Given the description of an element on the screen output the (x, y) to click on. 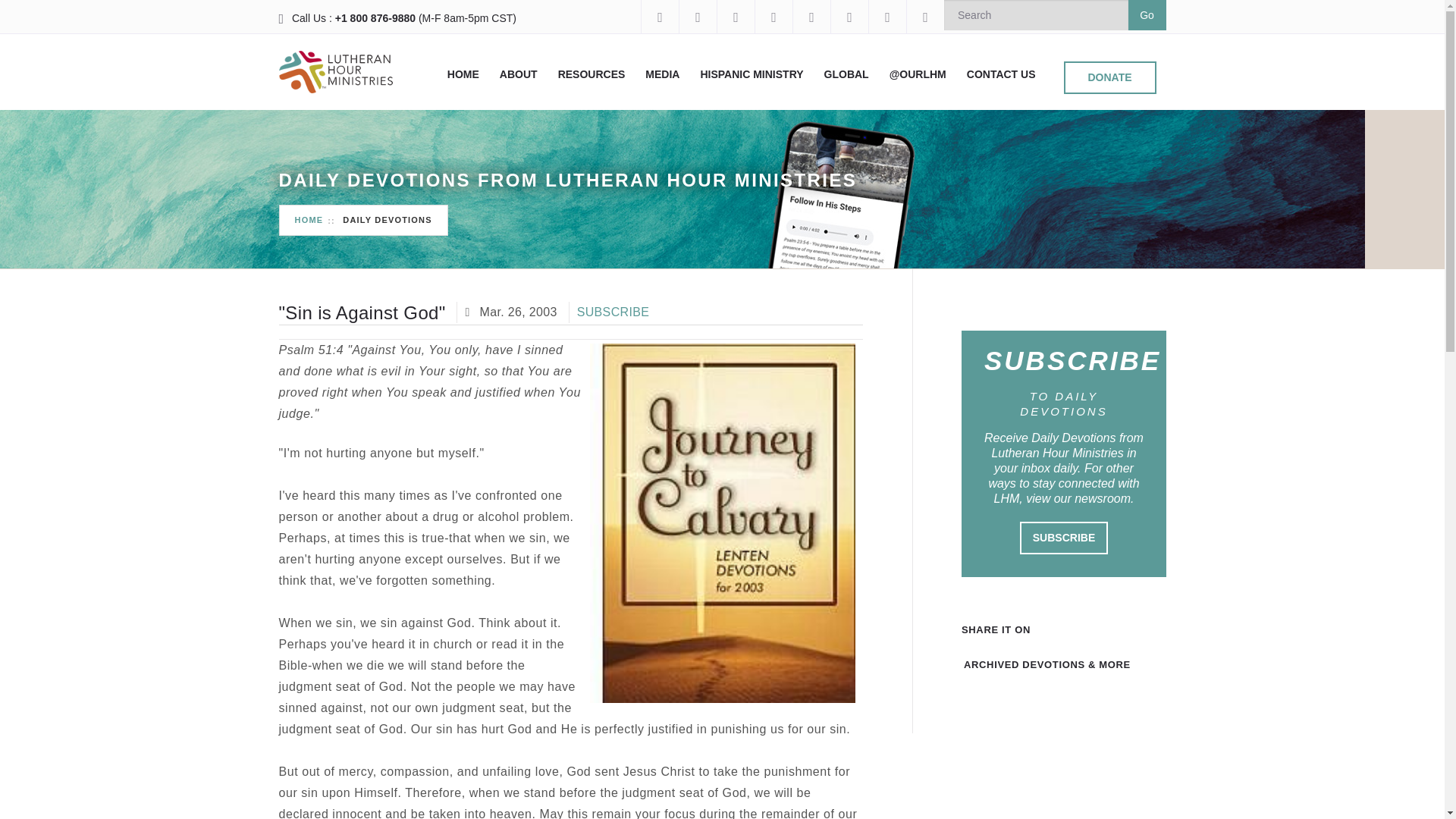
CONTACT US (1000, 74)
Go (1147, 15)
Resources and Training (591, 74)
RESOURCES (591, 74)
ABOUT (518, 74)
MEDIA (662, 74)
Lutheran Hour Ministries YouTube (773, 16)
Lutheran Hour Ministries LinkedIn (848, 16)
GLOBAL (846, 74)
HISPANIC MINISTRY (751, 74)
Lutheran Hour Ministries Instagram (697, 16)
Shop Lutheran Hour Ministries (924, 16)
Go (1147, 15)
Lutheran Hour Ministries Facebook (659, 16)
Lutheran Hour Ministries Twitter (735, 16)
